Given the description of an element on the screen output the (x, y) to click on. 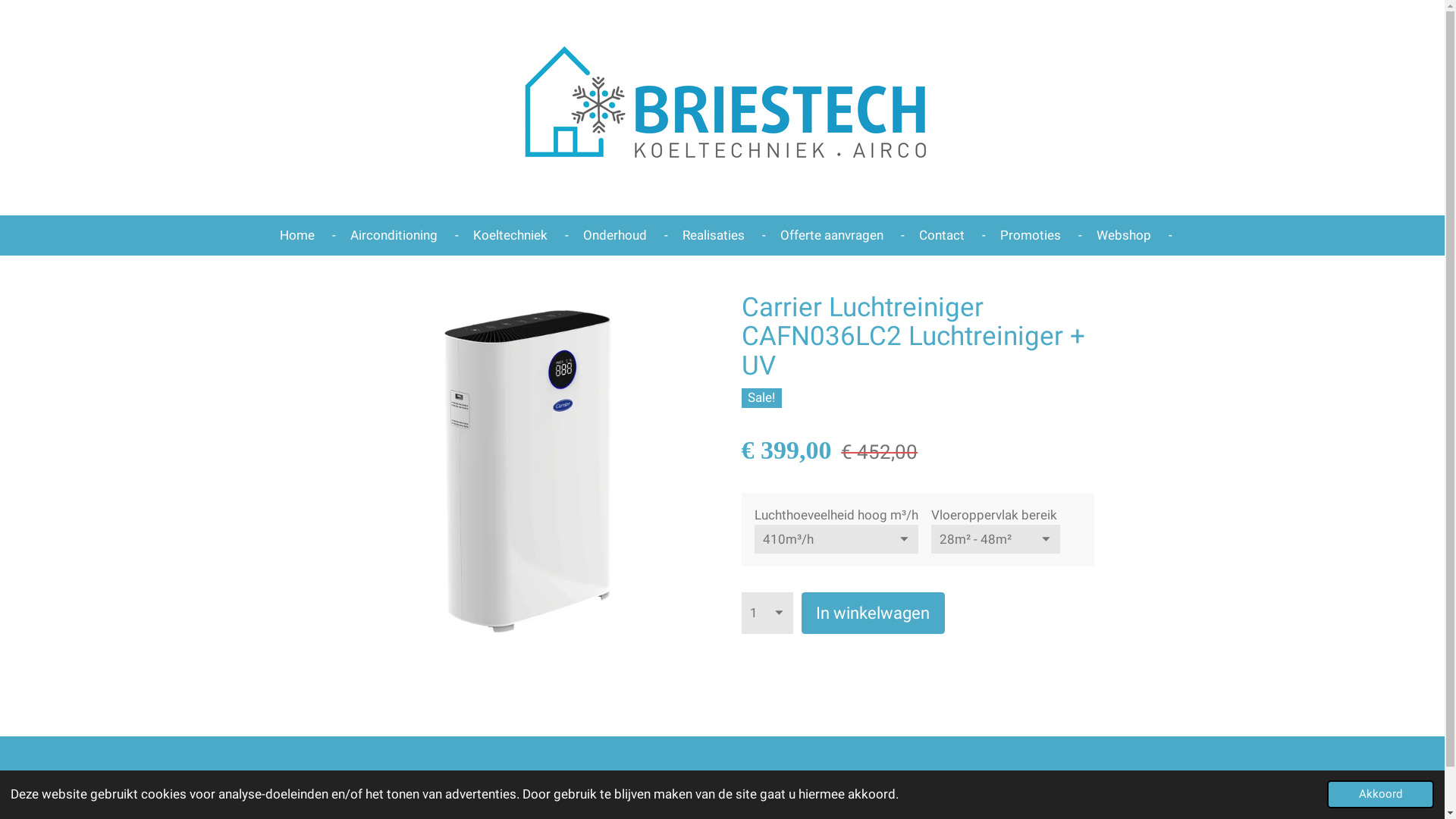
Koeltechniek Element type: text (510, 234)
Briestech Element type: hover (722, 107)
Home Element type: text (296, 234)
Contact Element type: text (941, 234)
Webshop Element type: text (1123, 234)
Akkoord Element type: text (1380, 794)
Offerte aanvragen Element type: text (830, 234)
Realisaties Element type: text (713, 234)
Onderhoud Element type: text (613, 234)
Promoties Element type: text (1029, 234)
In winkelwagen Element type: text (873, 612)
Airconditioning Element type: text (393, 234)
Algemene Verkoopsvoorwaarden Element type: text (441, 783)
